Given the description of an element on the screen output the (x, y) to click on. 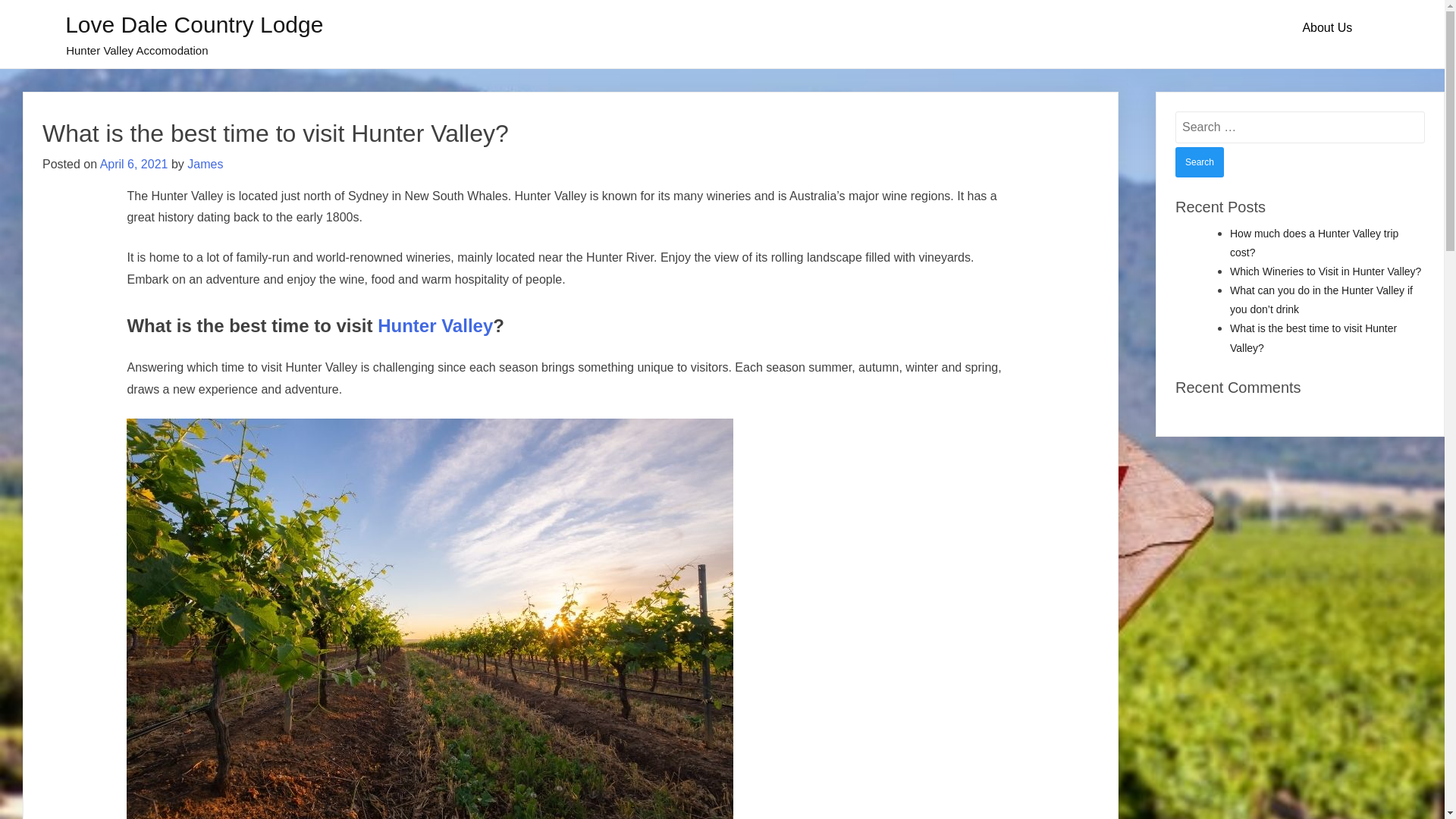
What is the best time to visit Hunter Valley? Element type: text (1313, 337)
About Us Element type: text (1326, 27)
Search Element type: text (1199, 162)
April 6, 2021 Element type: text (134, 163)
James Element type: text (204, 163)
How much does a Hunter Valley trip cost? Element type: text (1314, 242)
Love Dale Country Lodge Element type: text (194, 24)
Hunter Valley Element type: text (434, 325)
Which Wineries to Visit in Hunter Valley? Element type: text (1325, 271)
